Given the description of an element on the screen output the (x, y) to click on. 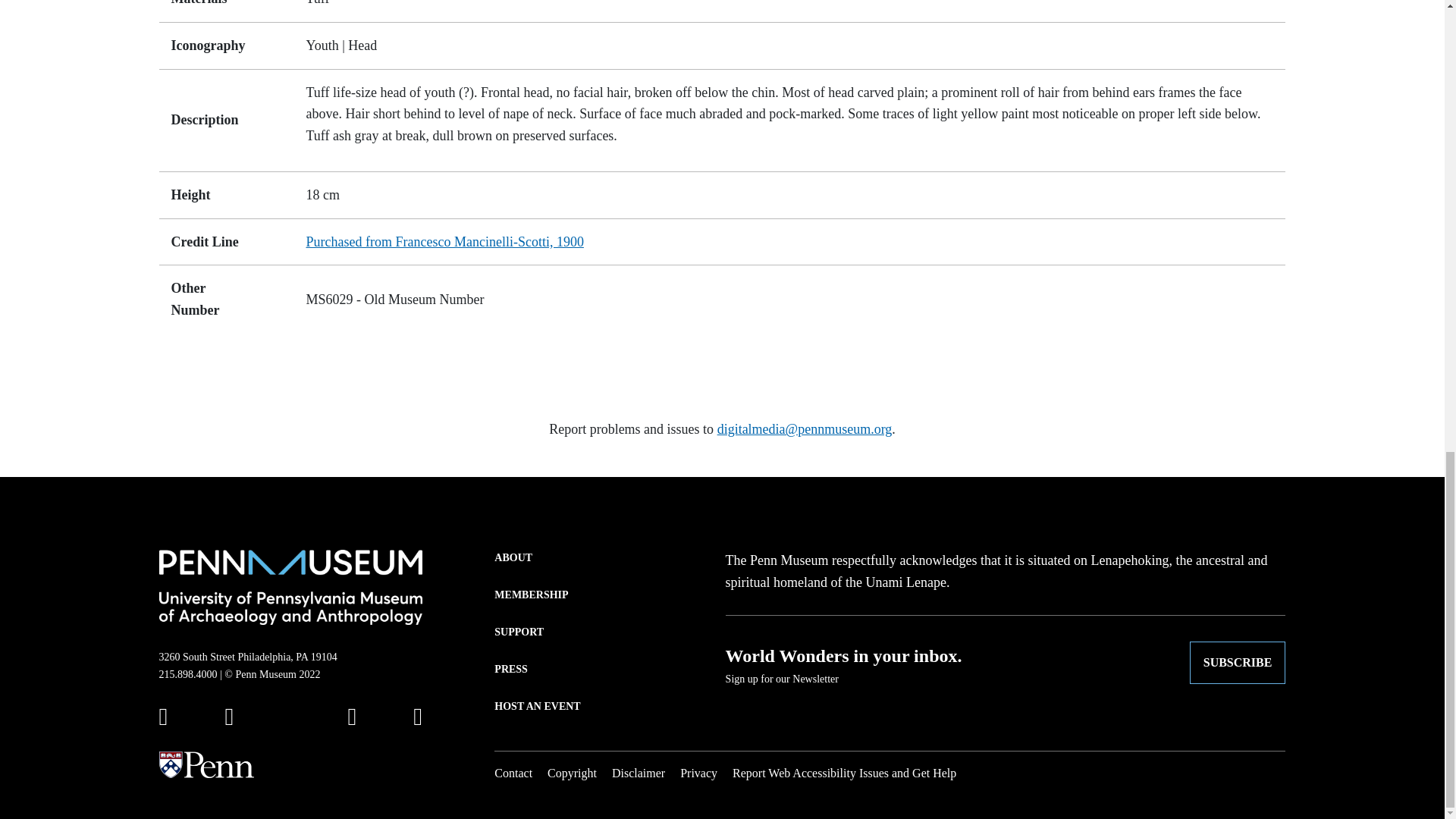
Privacy (698, 772)
Contact (513, 772)
Copyright (571, 772)
Disclaimer (638, 772)
Report Web Accessibility Issues and Get Help (844, 772)
